Given the description of an element on the screen output the (x, y) to click on. 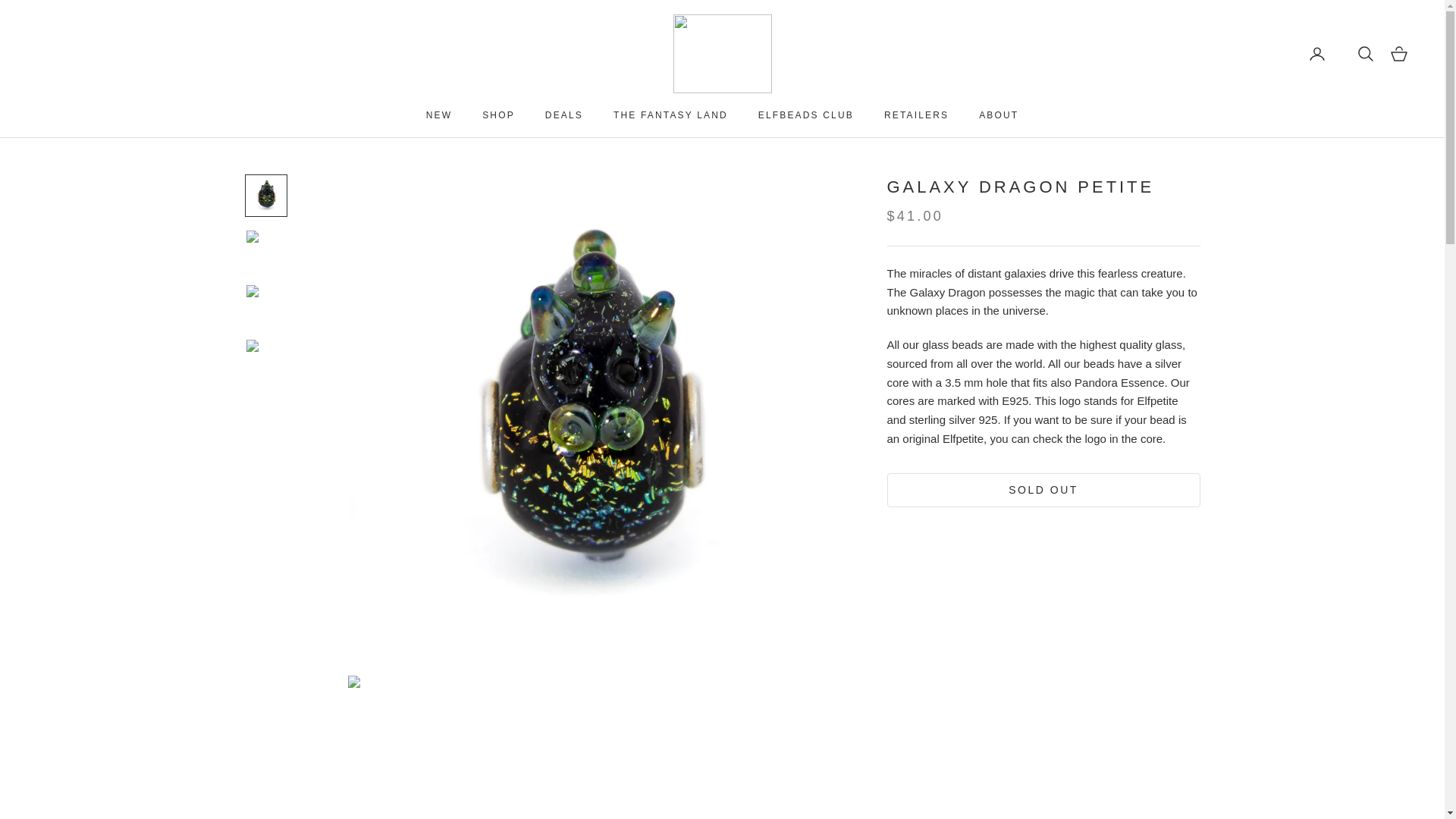
NEW (438, 114)
Open account page (1316, 54)
DEALS (563, 114)
Open cart (1398, 54)
Open search (1365, 54)
THE FANTASY LAND (670, 114)
Elfbeads (721, 53)
